Given the description of an element on the screen output the (x, y) to click on. 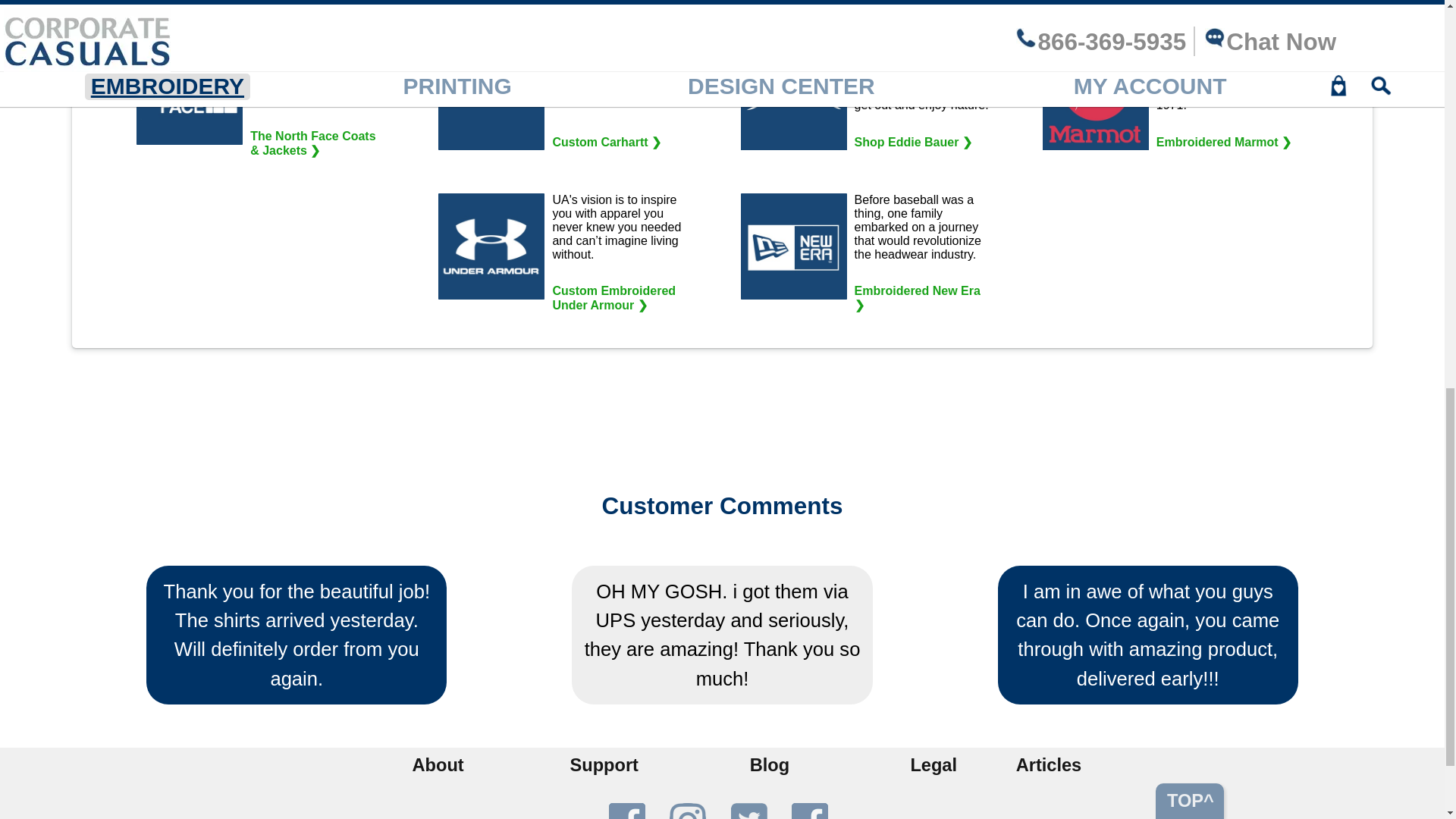
Find us on Facebook (626, 811)
